Given the description of an element on the screen output the (x, y) to click on. 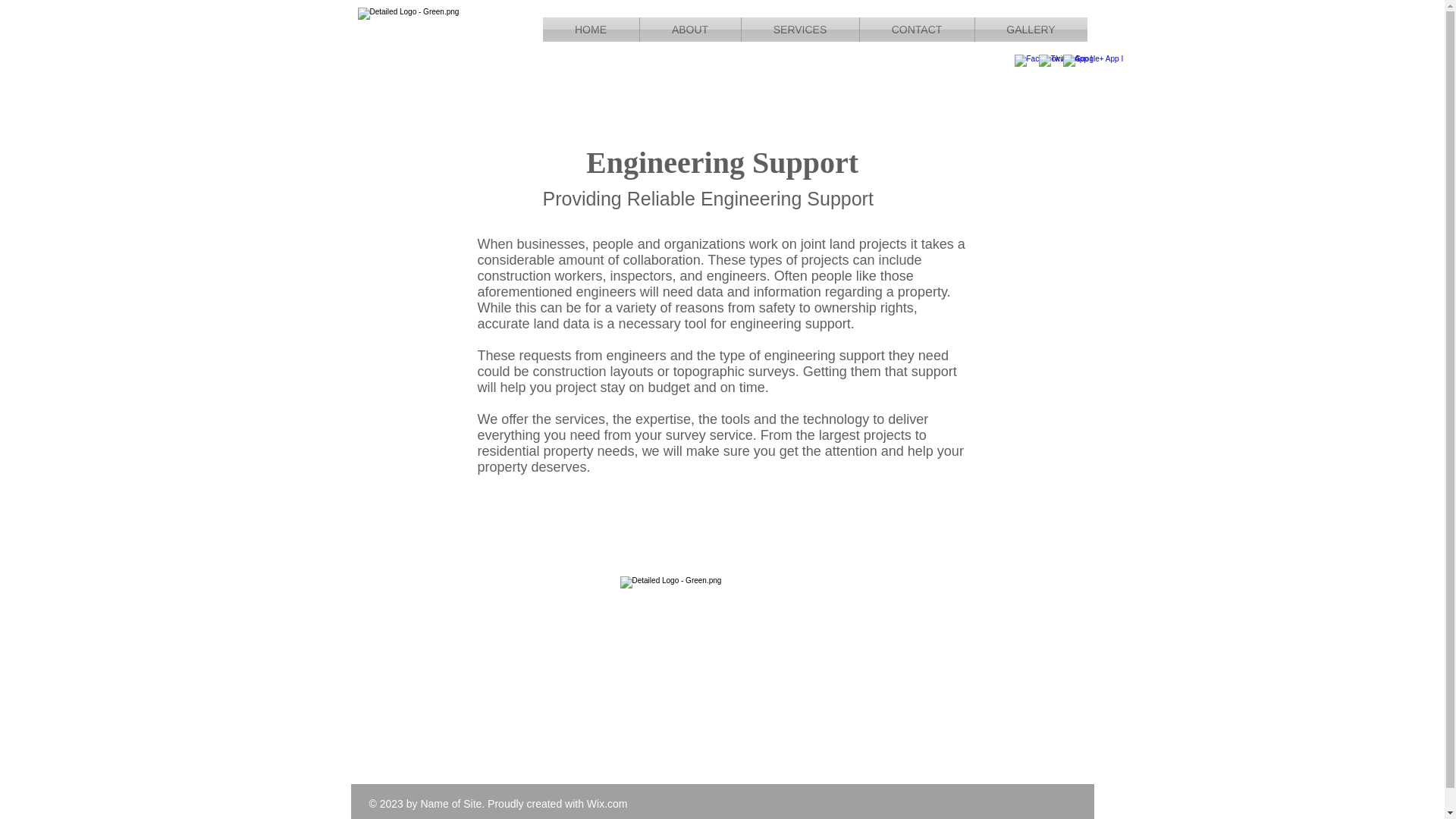
CONTACT (917, 29)
Wix.com (606, 803)
GALLERY (1031, 29)
SERVICES (800, 29)
ABOUT (690, 29)
HOME (591, 29)
